Given the description of an element on the screen output the (x, y) to click on. 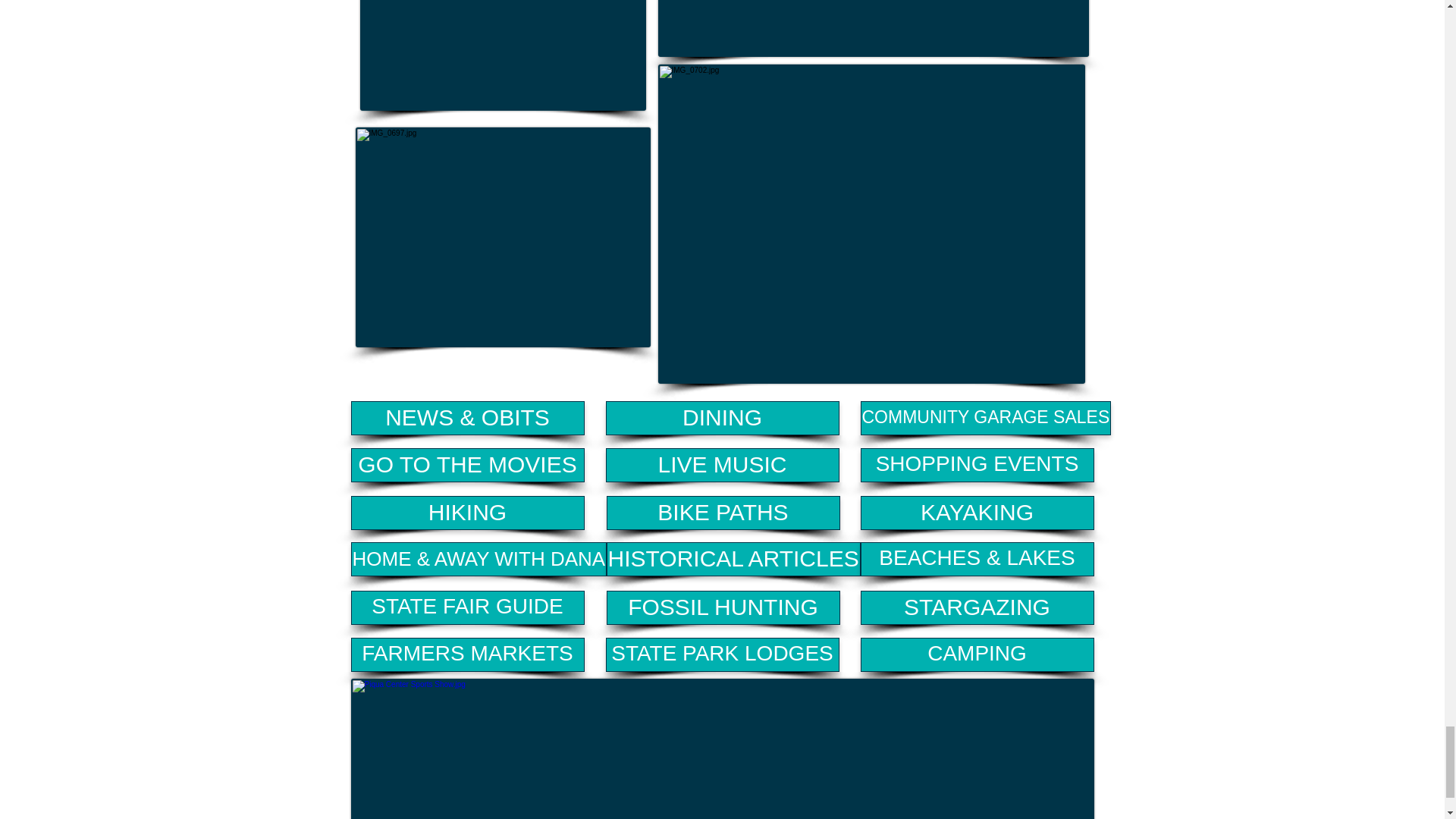
HISTORICAL ARTICLES (733, 559)
STARGAZING (976, 607)
CAMPING (976, 654)
FARMERS MARKETS (466, 654)
DINING (721, 417)
SHOPPING EVENTS (976, 464)
STATE PARK LODGES (721, 654)
COMMUNITY GARAGE SALES (985, 417)
FOSSIL HUNTING (723, 607)
GO TO THE MOVIES (466, 464)
BIKE PATHS (723, 512)
KAYAKING (976, 512)
HIKING (466, 512)
STATE FAIR GUIDE (466, 607)
LIVE MUSIC (721, 464)
